Given the description of an element on the screen output the (x, y) to click on. 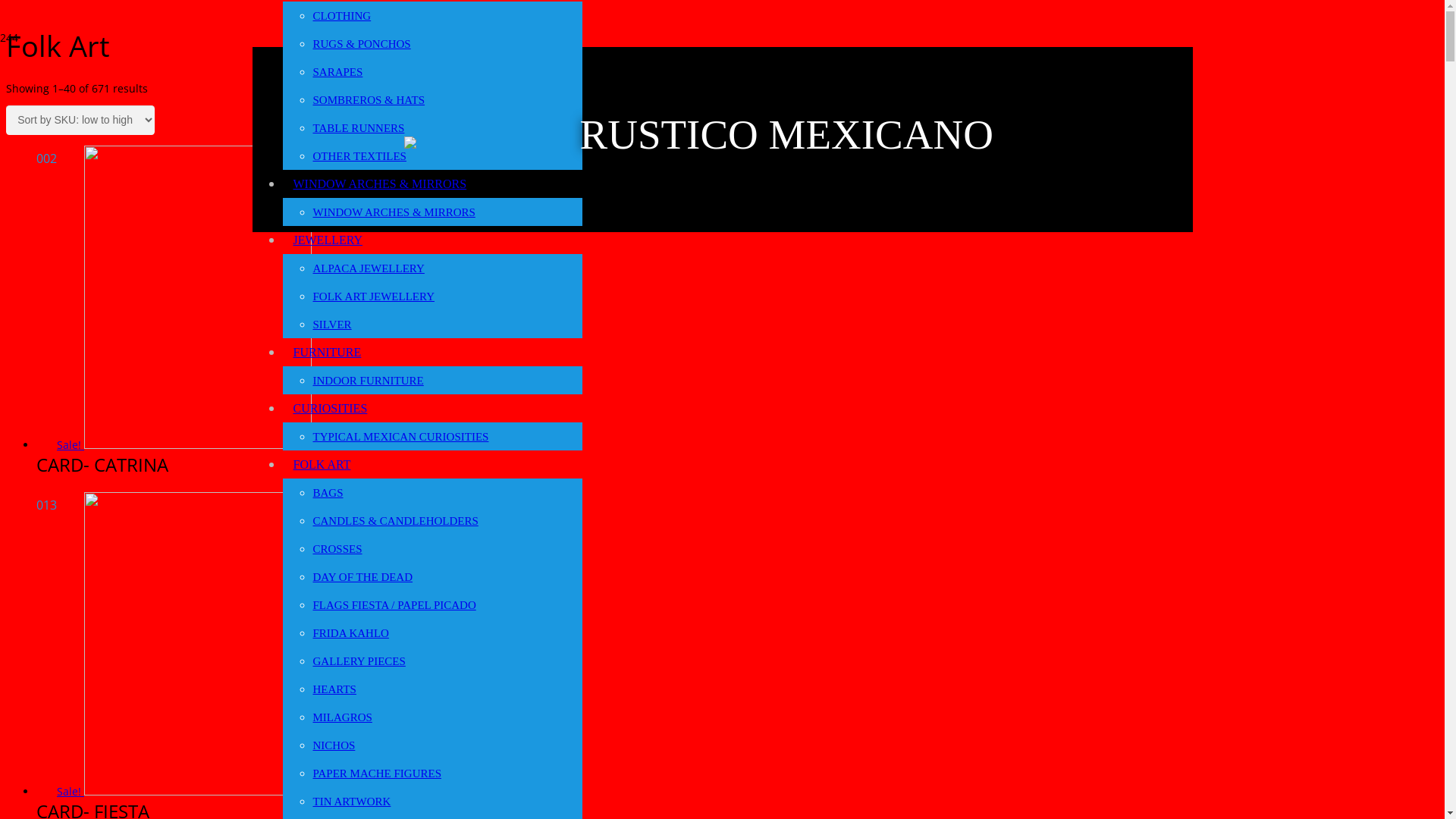
CANDLES & CANDLEHOLDERS Element type: text (394, 520)
CURIOSITIES Element type: text (329, 407)
FRIDA KAHLO Element type: text (350, 633)
ALPACA JEWELLERY Element type: text (367, 268)
WINDOW ARCHES & MIRRORS Element type: text (379, 183)
RUGS & PONCHOS Element type: text (361, 43)
TIN ARTWORK Element type: text (351, 801)
DAY OF THE DEAD Element type: text (362, 577)
FOLK ART Element type: text (321, 464)
SARAPES Element type: text (337, 71)
FOLK ART JEWELLERY Element type: text (373, 296)
MILAGROS Element type: text (341, 717)
SILVER Element type: text (331, 324)
WINDOW ARCHES & MIRRORS Element type: text (393, 212)
FLAGS FIESTA / PAPEL PICADO Element type: text (393, 605)
HEARTS Element type: text (333, 689)
GALLERY PIECES Element type: text (358, 661)
JEWELLERY Element type: text (327, 239)
BAGS Element type: text (327, 492)
SOMBREROS & HATS Element type: text (368, 100)
TABLE RUNNERS Element type: text (358, 128)
INDOOR FURNITURE Element type: text (367, 380)
OTHER TEXTILES Element type: text (358, 156)
CROSSES Element type: text (336, 548)
TYPICAL MEXICAN CURIOSITIES Element type: text (400, 436)
NICHOS Element type: text (333, 745)
Sale!
002 Element type: text (183, 444)
FURNITURE Element type: text (326, 351)
Sale!
013 Element type: text (183, 791)
CLOTHING Element type: text (341, 15)
PAPER MACHE FIGURES Element type: text (376, 773)
